Given the description of an element on the screen output the (x, y) to click on. 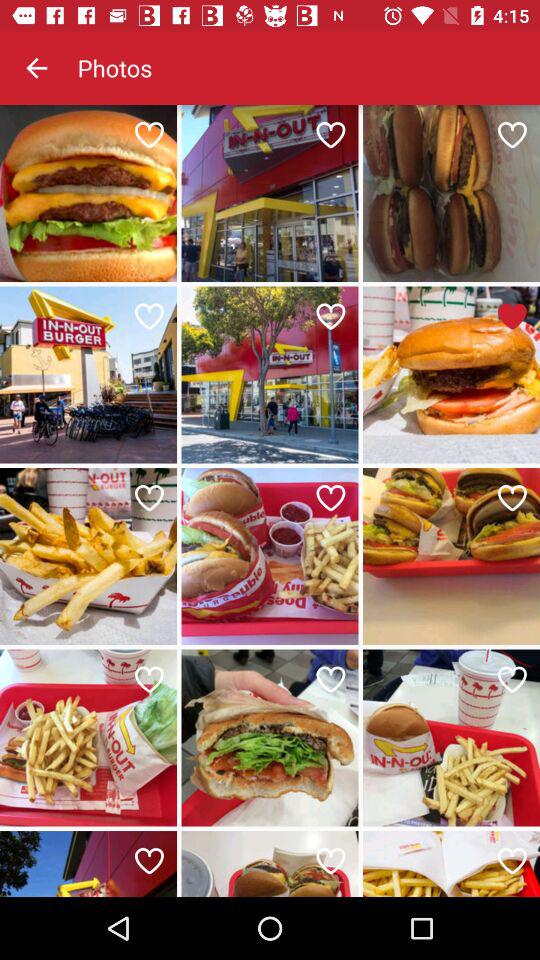
open item next to photos icon (36, 68)
